Given the description of an element on the screen output the (x, y) to click on. 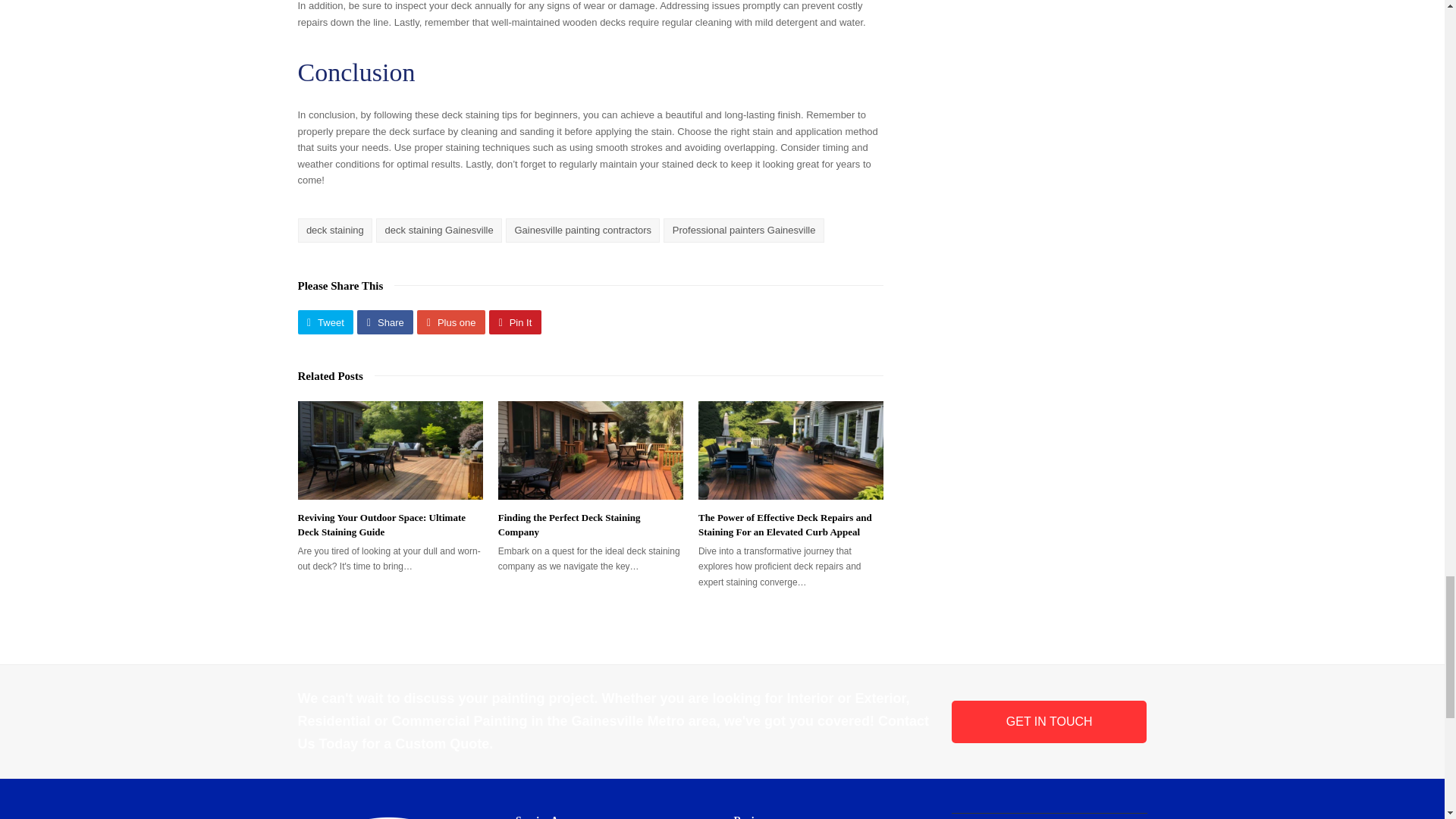
Share on Twitter (325, 321)
Finding the Perfect Deck Staining Company (589, 450)
Share on Pinterest (515, 321)
Reviving Your Outdoor Space: Ultimate Deck Staining Guide (389, 450)
GET IN TOUCH (1049, 721)
Finding the Perfect Deck Staining Company (568, 524)
Reviving Your Outdoor Space: Ultimate Deck Staining Guide (380, 524)
Share on Facebook (384, 321)
